Given the description of an element on the screen output the (x, y) to click on. 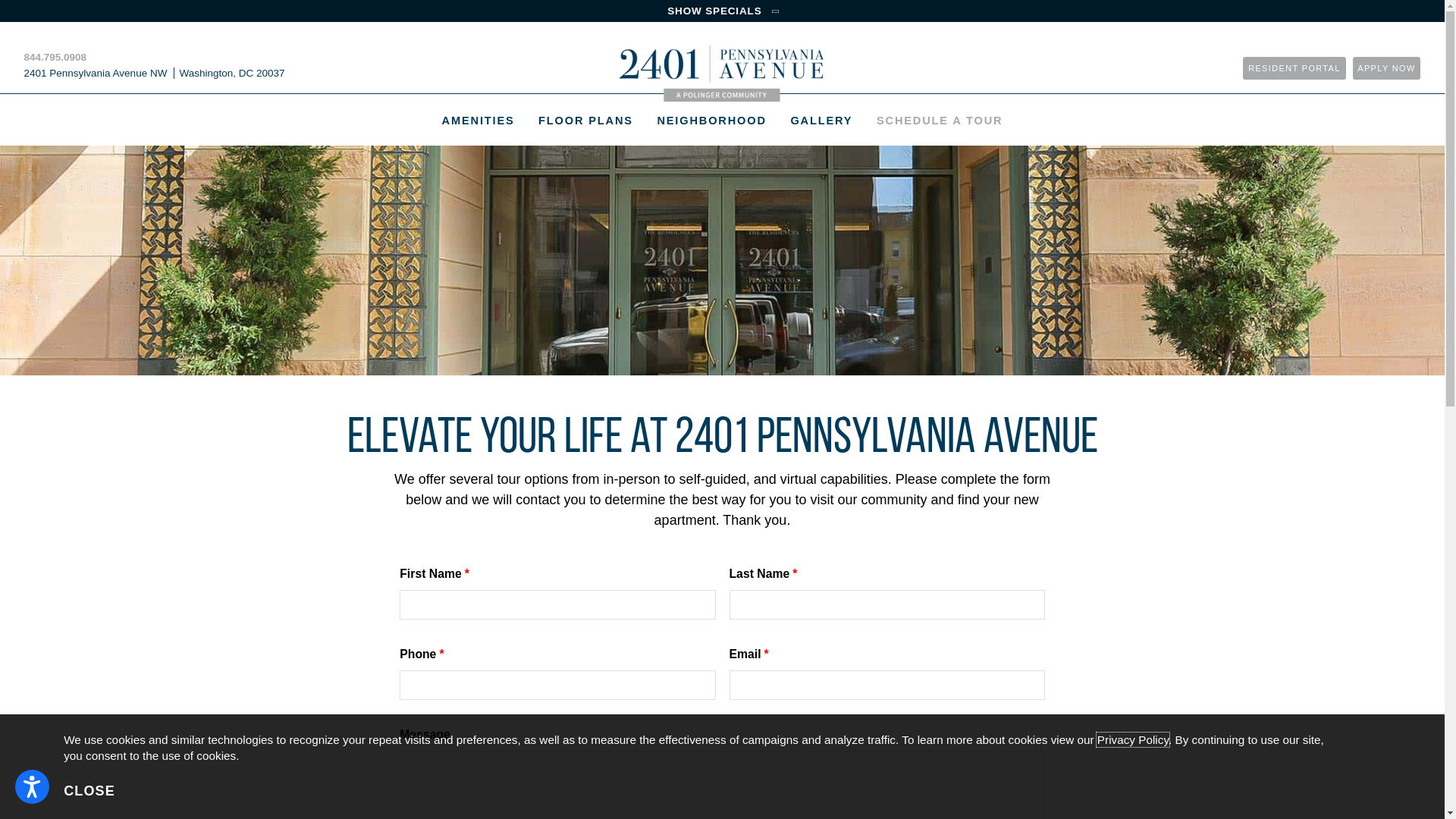
SHOW SPECIALS Element type: text (722, 10)
Privacy Policy Element type: text (1132, 739)
FLOOR PLANS Element type: text (585, 121)
RESIDENT PORTAL Element type: text (1293, 67)
NEIGHBORHOOD Element type: text (711, 121)
844.795.0908 Element type: text (55, 56)
CLOSE Element type: text (89, 791)
APPLY NOW Element type: text (1386, 67)
GALLERY Element type: text (821, 121)
AMENITIES Element type: text (478, 121)
SCHEDULE A TOUR Element type: text (939, 121)
